Given the description of an element on the screen output the (x, y) to click on. 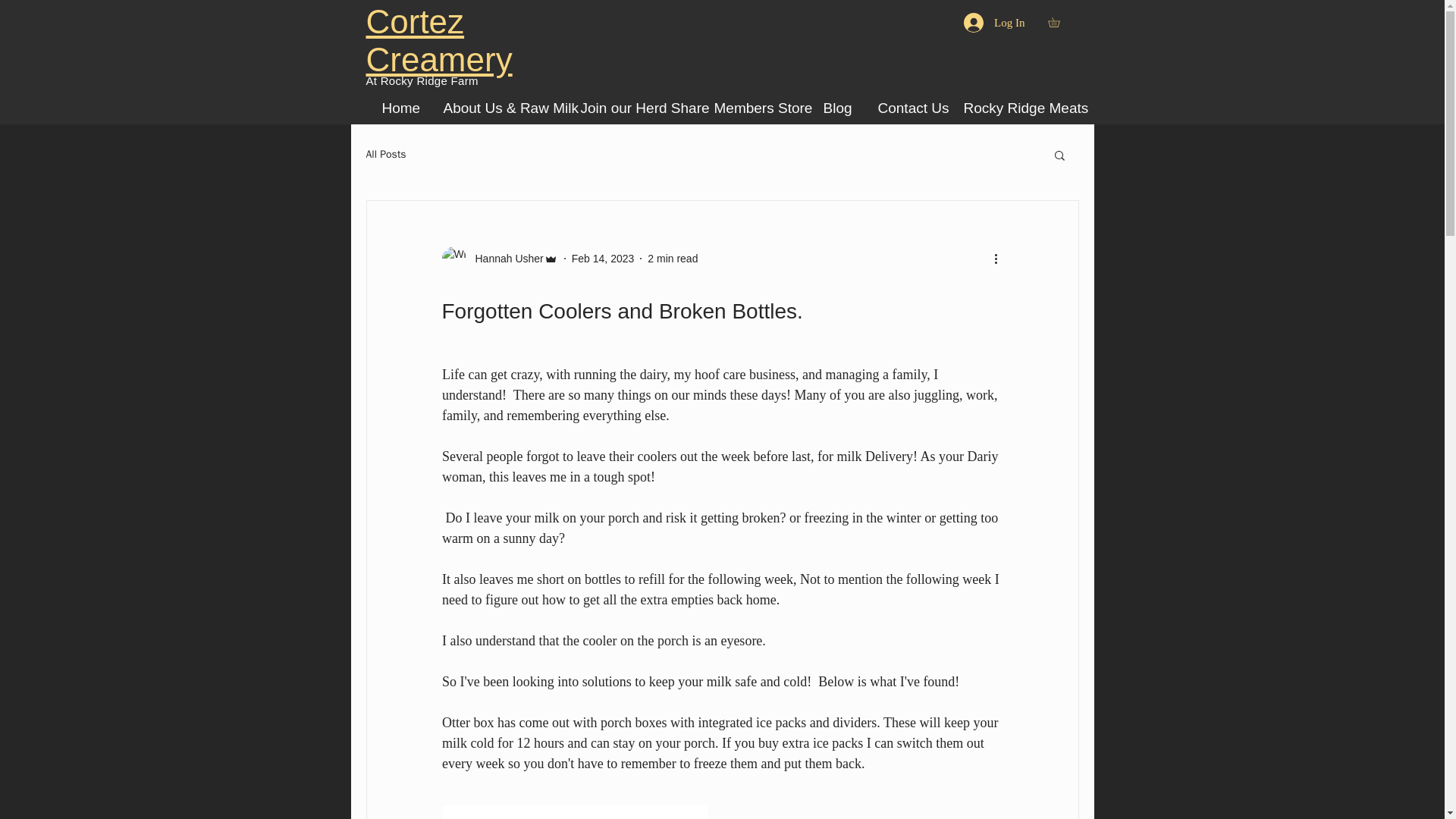
Hannah Usher (504, 258)
Home (399, 107)
Contact Us (909, 107)
Cortez Creamery (438, 40)
Hannah Usher (499, 258)
Blog (838, 107)
2 min read (672, 257)
Feb 14, 2023 (603, 257)
Members Store (755, 107)
Join our Herd Share (635, 107)
Log In (994, 22)
All Posts (385, 154)
Rocky Ridge Meats (1015, 107)
